Given the description of an element on the screen output the (x, y) to click on. 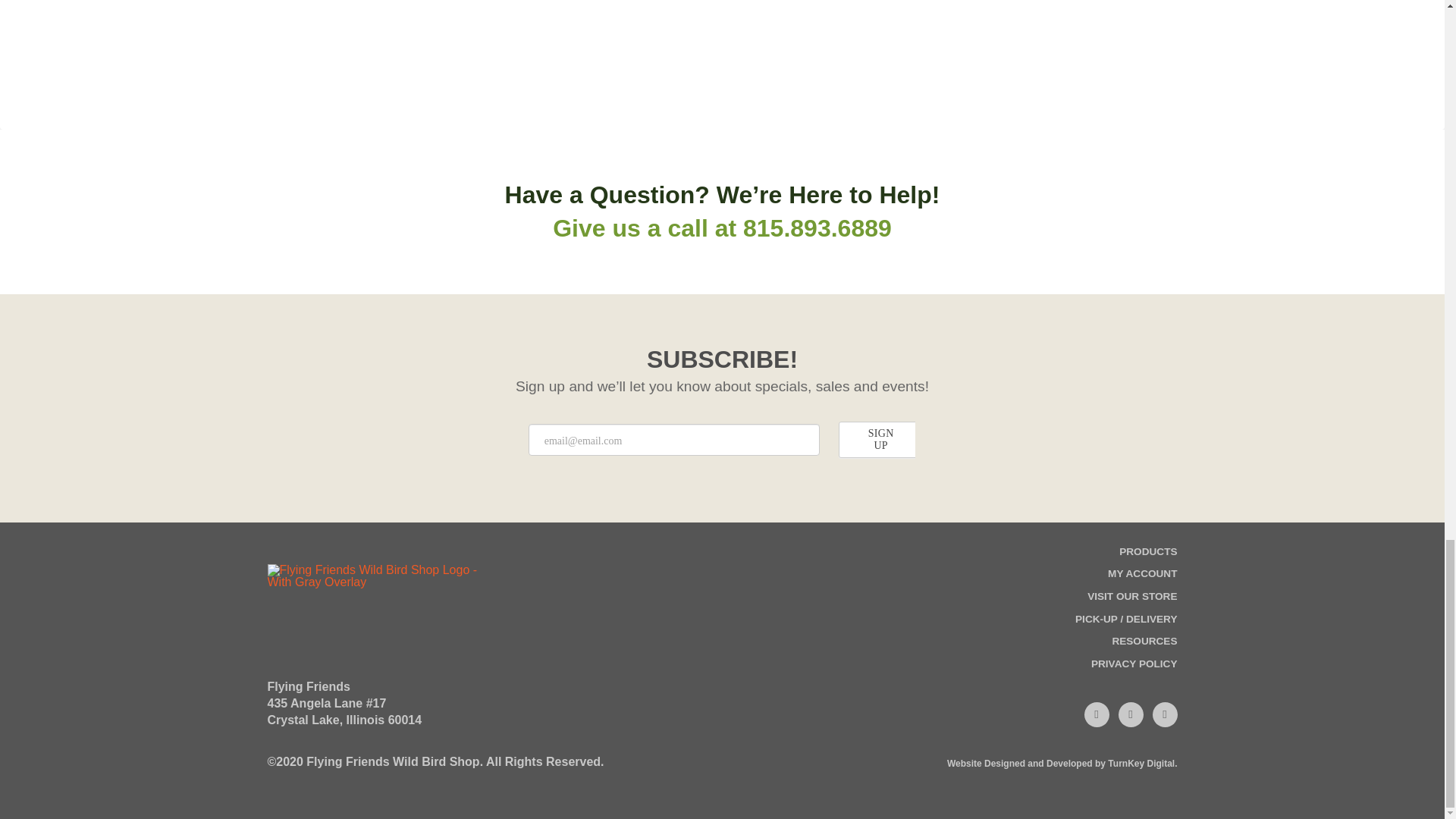
RESOURCES (1144, 647)
Give us a call at 815.893.6889 (722, 227)
SIGN UP (880, 439)
PRIVACY POLICY (1133, 670)
MY ACCOUNT (1142, 579)
PRODUCTS (1147, 558)
VISIT OUR STORE (1131, 602)
